Given the description of an element on the screen output the (x, y) to click on. 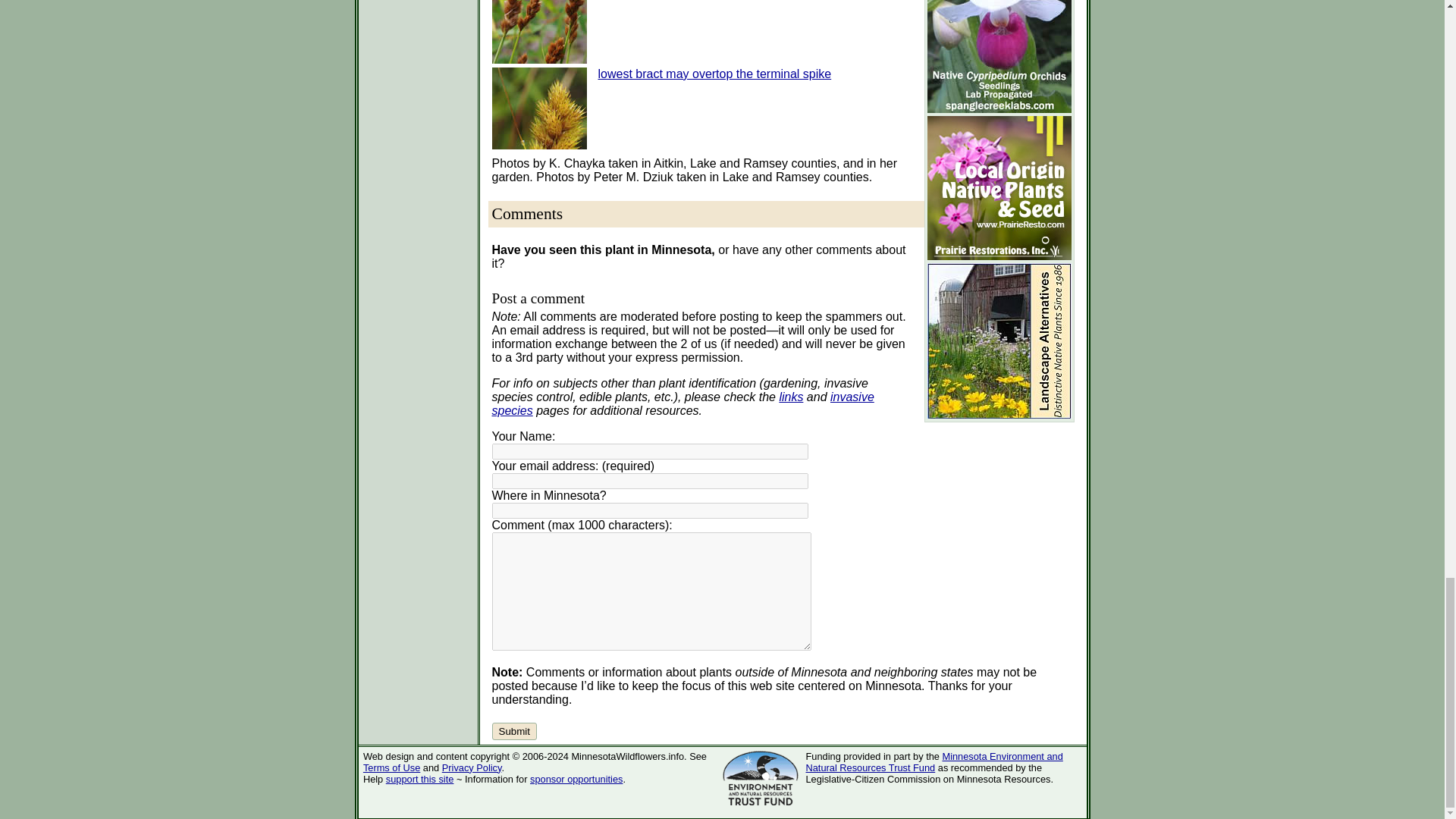
Submit (513, 731)
Submit (513, 731)
lowest bract may overtop the terminal spike (713, 73)
invasive species (682, 403)
links (790, 396)
